Given the description of an element on the screen output the (x, y) to click on. 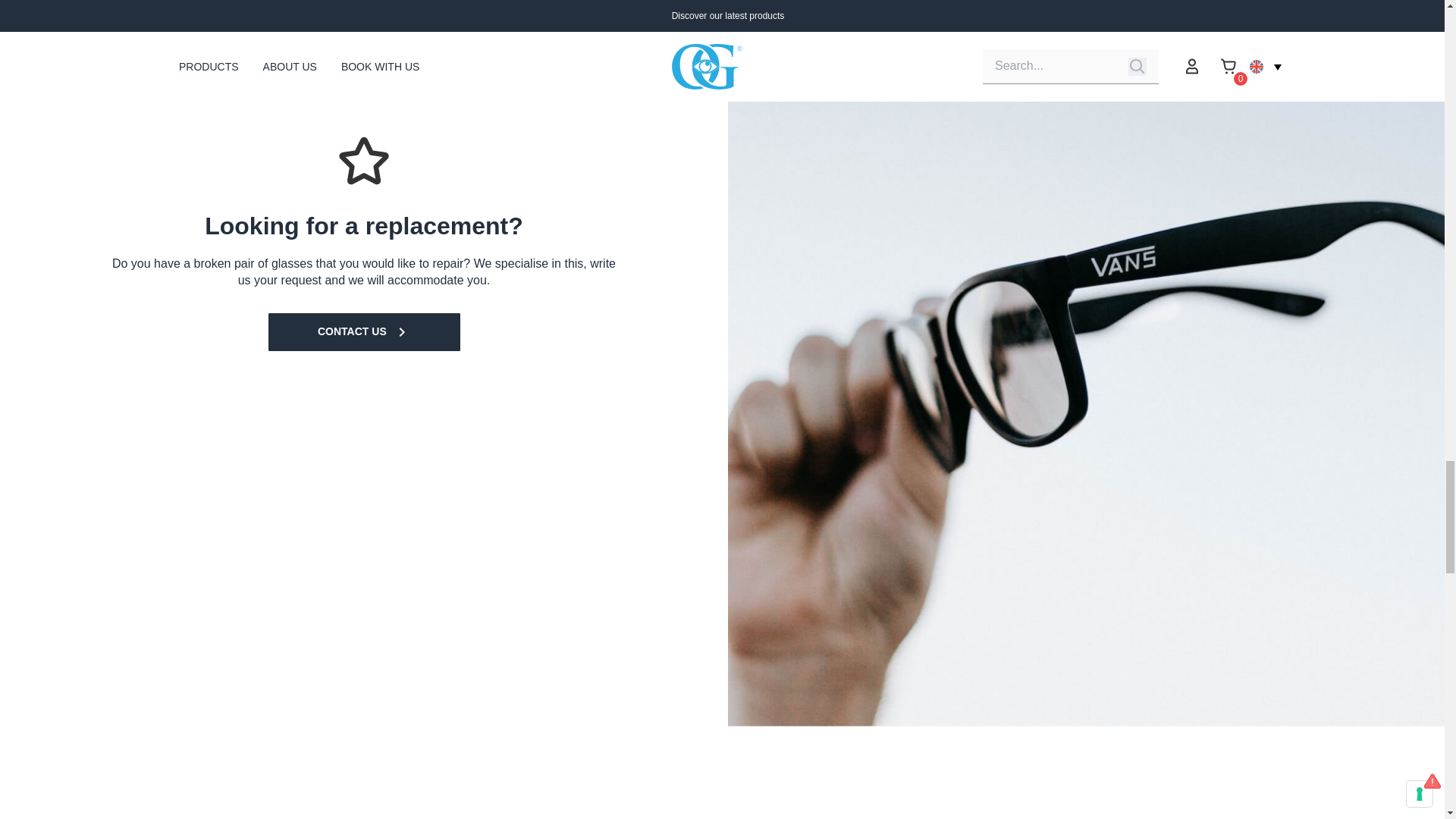
CONTACT US (363, 331)
